Given the description of an element on the screen output the (x, y) to click on. 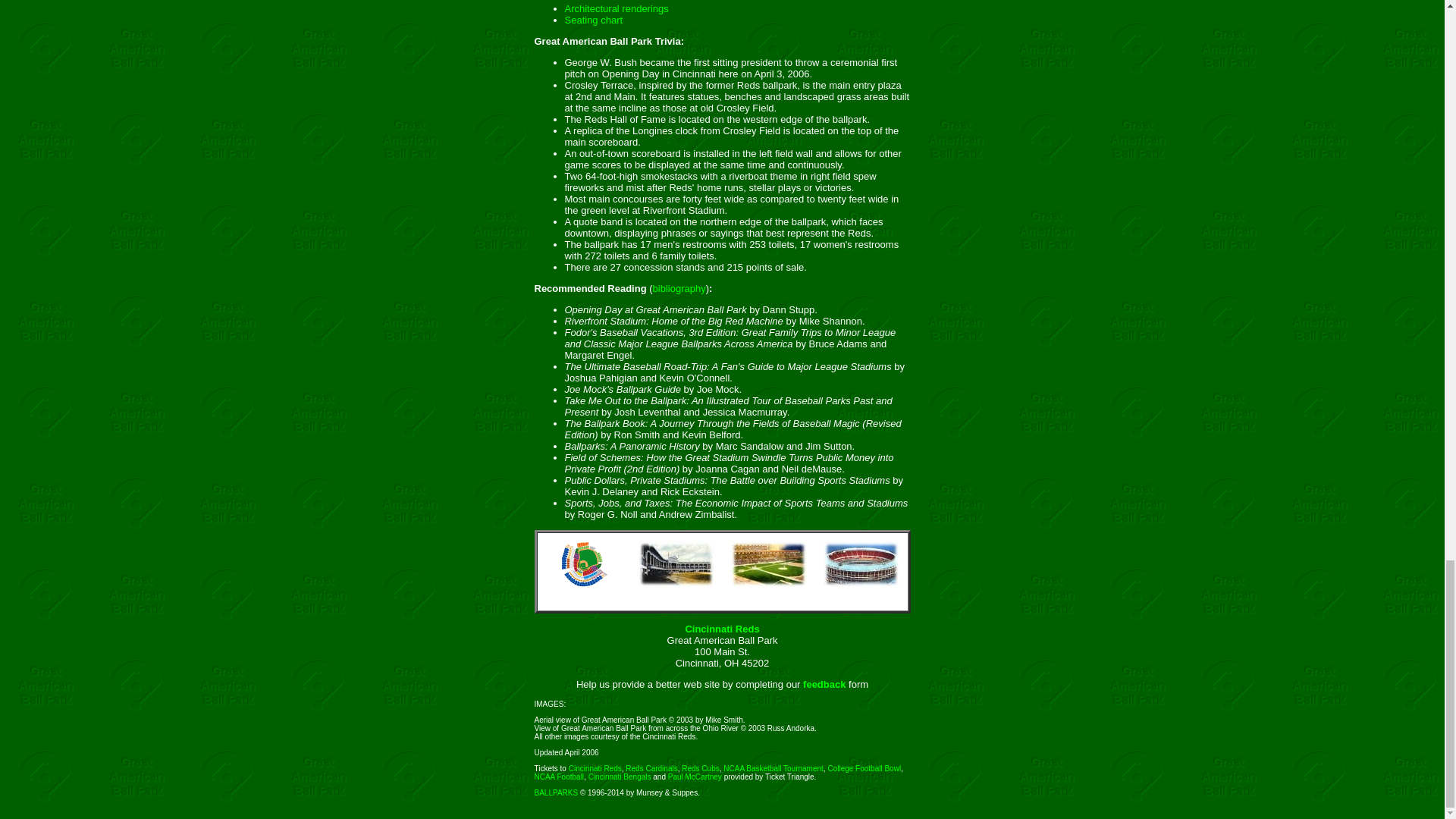
Reds Cubs (700, 768)
Paul McCartney (695, 777)
Cincinnati Reds (721, 628)
Architectural renderings (616, 8)
bibliography (679, 288)
College Football Bowl (864, 768)
NCAA Football (558, 777)
Seating chart (593, 19)
Reds Cardinals (651, 768)
BALLPARKS (556, 792)
